Given the description of an element on the screen output the (x, y) to click on. 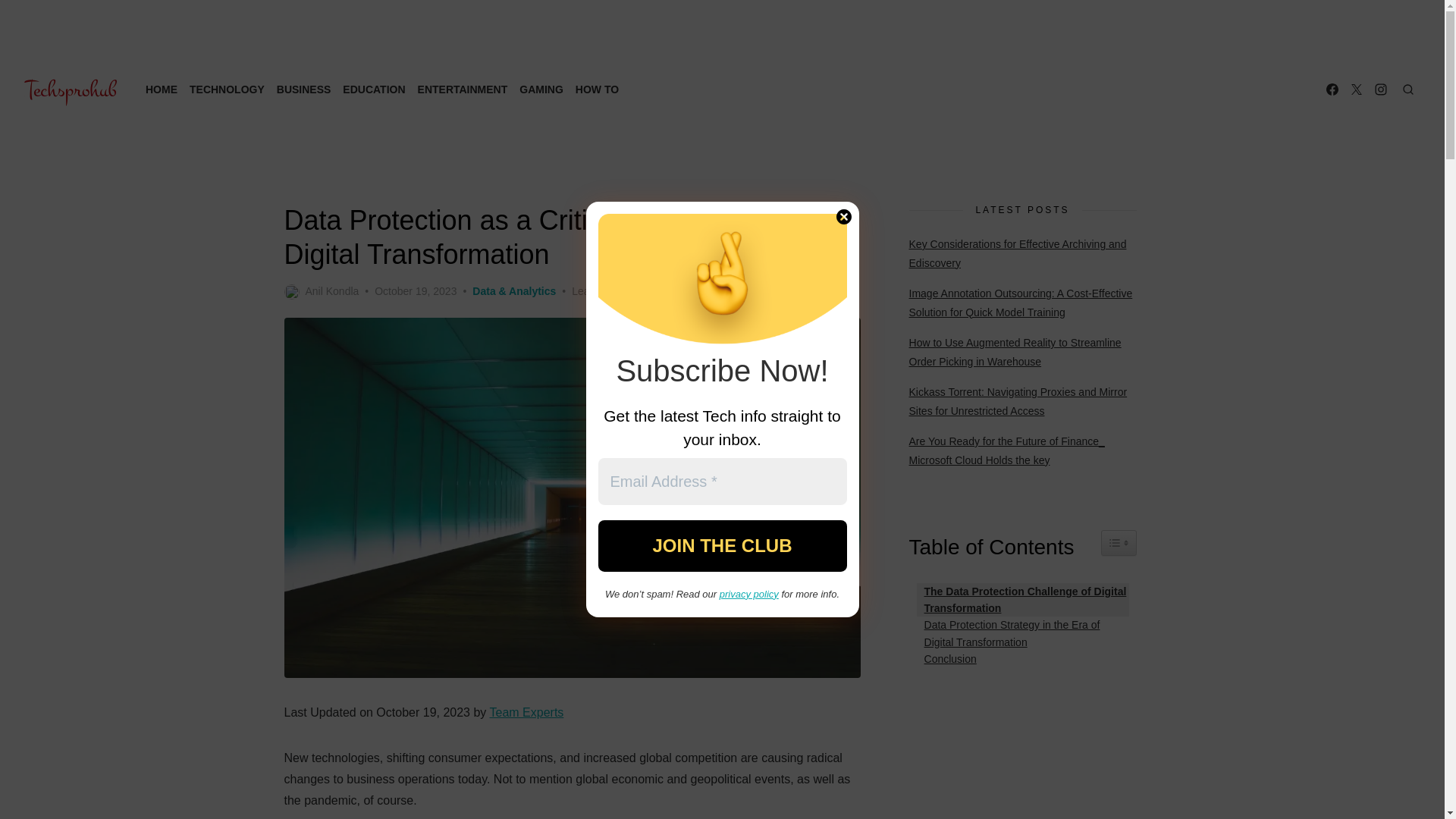
BUSINESS (303, 88)
Team Experts (526, 712)
The Data Protection Challenge of Digital Transformation (1023, 600)
TECHNOLOGY (226, 88)
Anil Kondla (320, 291)
Conclusion (946, 658)
JOIN THE CLUB (720, 545)
Leave a comment (614, 291)
HOME (161, 88)
ENTERTAINMENT (462, 88)
privacy policy (748, 593)
GAMING (541, 88)
EDUCATION (373, 88)
Email Address (720, 481)
